Given the description of an element on the screen output the (x, y) to click on. 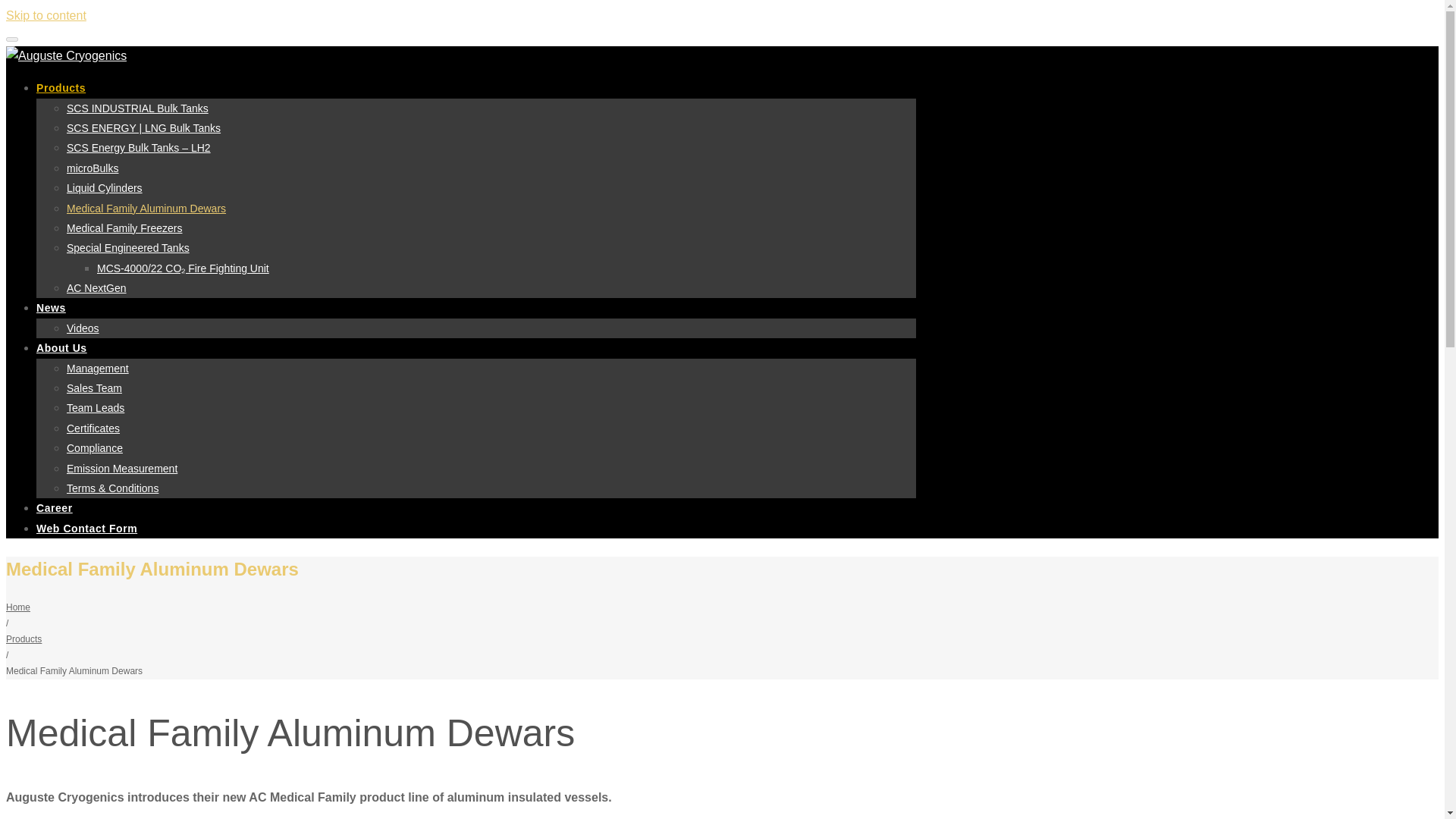
Products (60, 87)
Special Engineered Tanks (127, 247)
Medical Family Freezers (124, 227)
Products (23, 638)
Certificates (92, 428)
SCS INDUSTRIAL Bulk Tanks (137, 108)
Sales Team (94, 387)
Emission Measurement (121, 468)
News (50, 307)
Skip to content (45, 15)
